Given the description of an element on the screen output the (x, y) to click on. 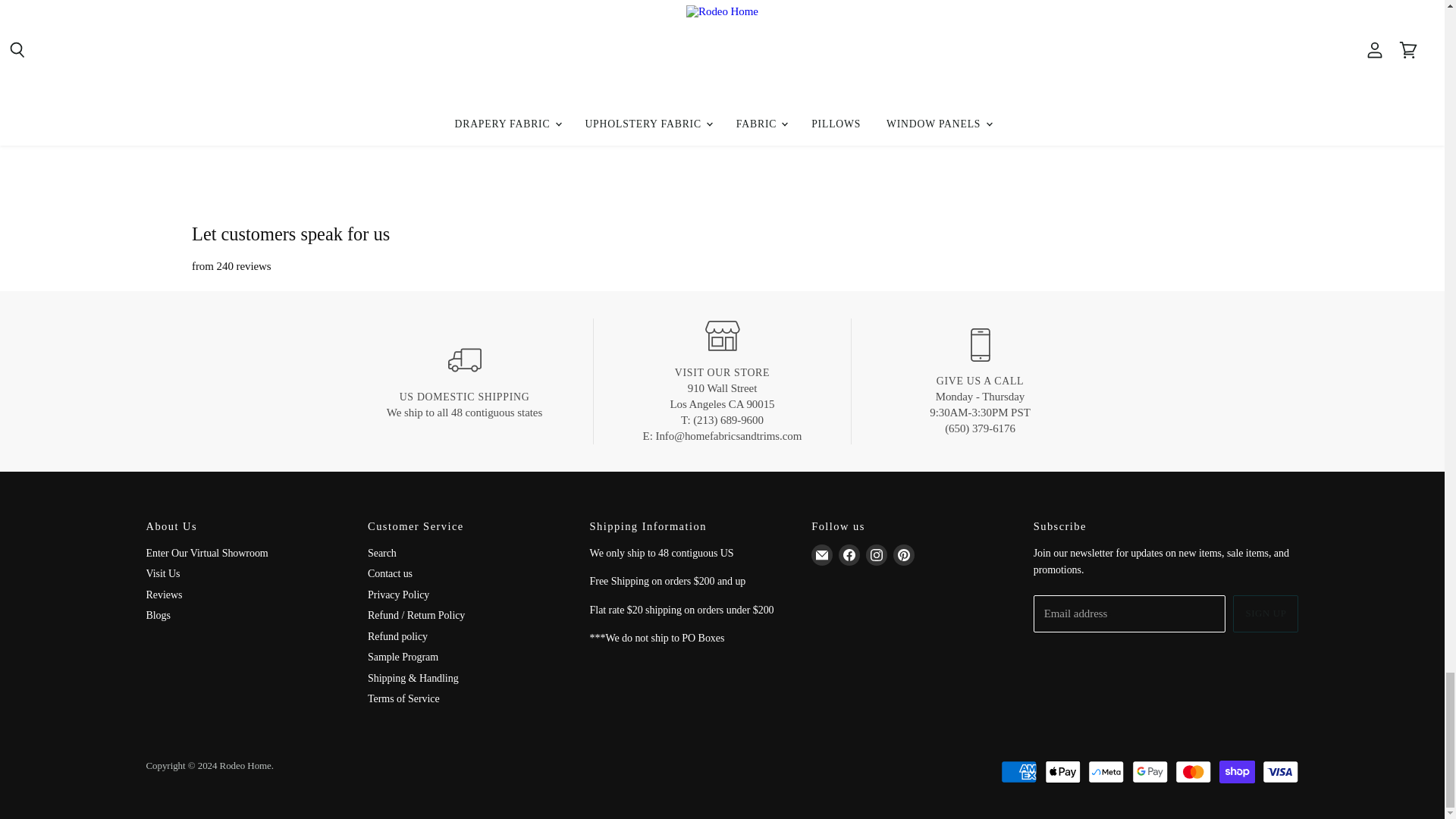
Instagram (876, 554)
Pinterest (903, 554)
Facebook (849, 554)
Delivery icon (463, 360)
E-mail (821, 554)
Store icon (721, 335)
